Given the description of an element on the screen output the (x, y) to click on. 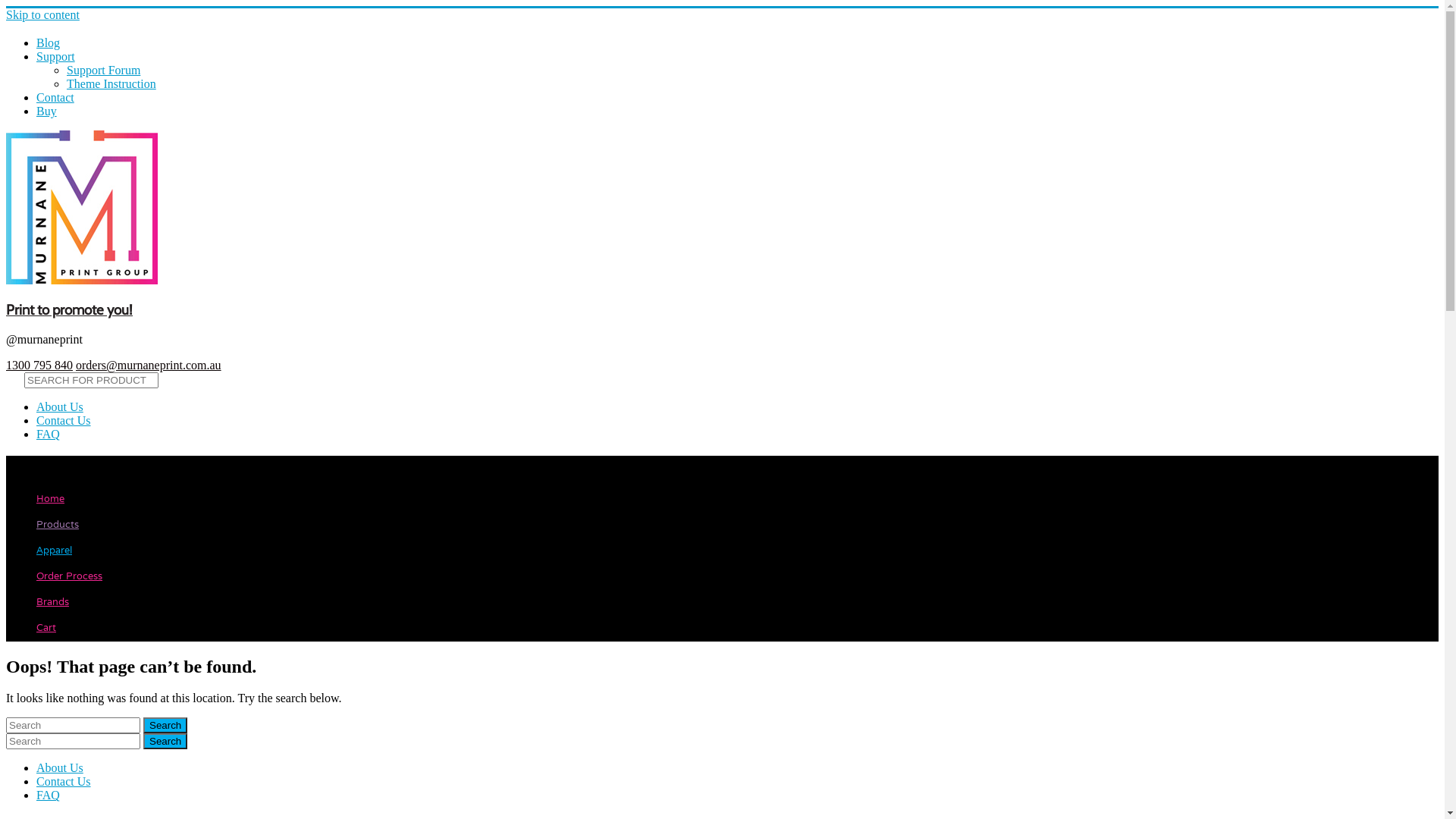
Theme Instruction Element type: text (111, 83)
About Us Element type: text (59, 767)
Support Forum Element type: text (103, 69)
About Us Element type: text (59, 406)
Search Element type: text (165, 725)
FAQ Element type: text (47, 794)
Cart Element type: text (46, 628)
FAQ Element type: text (47, 433)
Search Element type: text (165, 741)
Support Element type: text (55, 56)
Blog Element type: text (47, 42)
Home Element type: text (50, 499)
Apparel Element type: text (54, 551)
Print to promote you! Element type: text (69, 309)
Skip to content Element type: text (42, 14)
1300 795 840 Element type: text (39, 364)
Brands Element type: text (52, 602)
Products Element type: text (57, 525)
Contact Element type: text (55, 97)
Order Process Element type: text (69, 576)
orders@murnaneprint.com.au Element type: text (148, 364)
Contact Us Element type: text (63, 420)
Buy Element type: text (46, 110)
Contact Us Element type: text (63, 781)
